Given the description of an element on the screen output the (x, y) to click on. 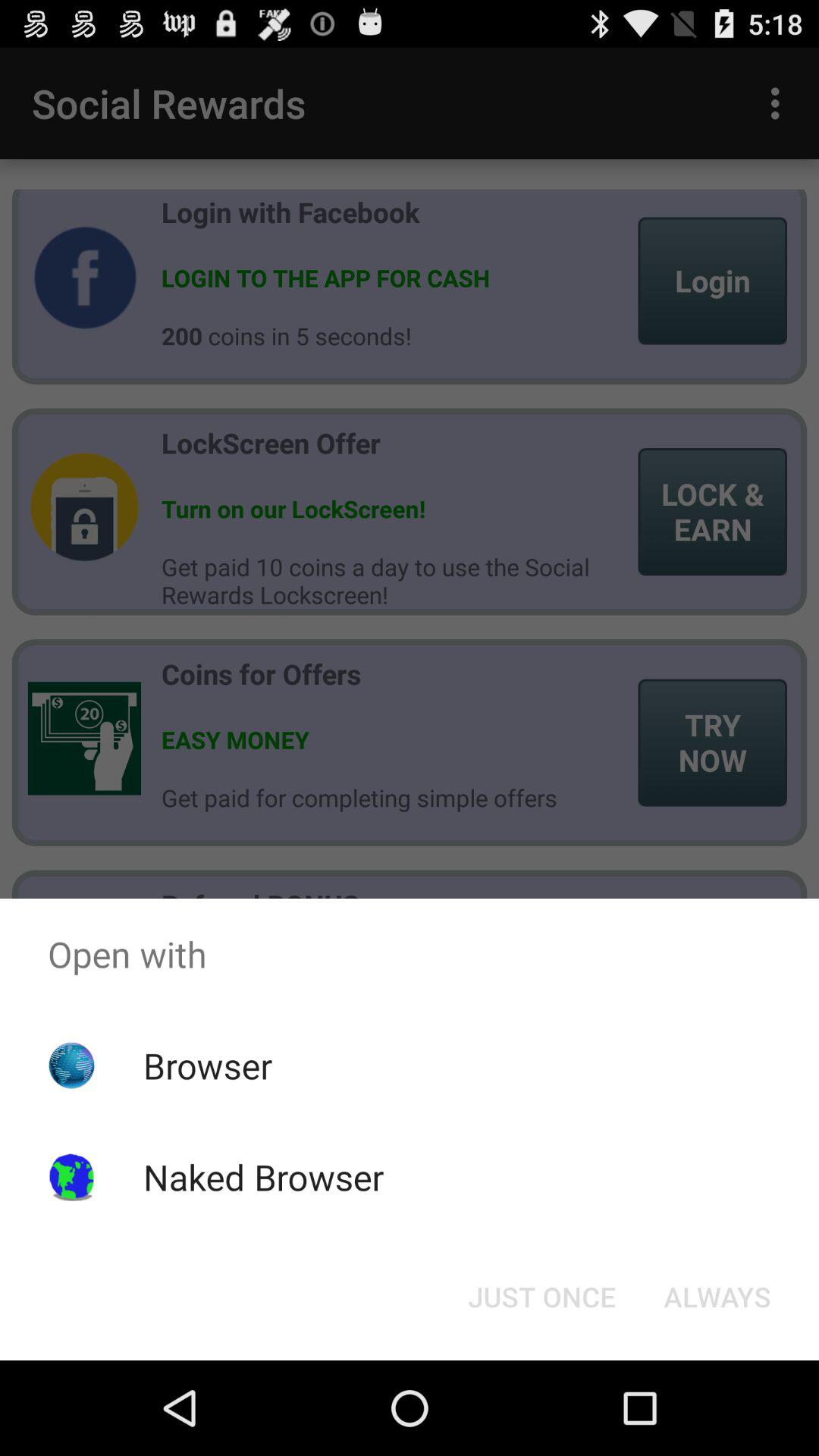
jump to naked browser item (263, 1176)
